Given the description of an element on the screen output the (x, y) to click on. 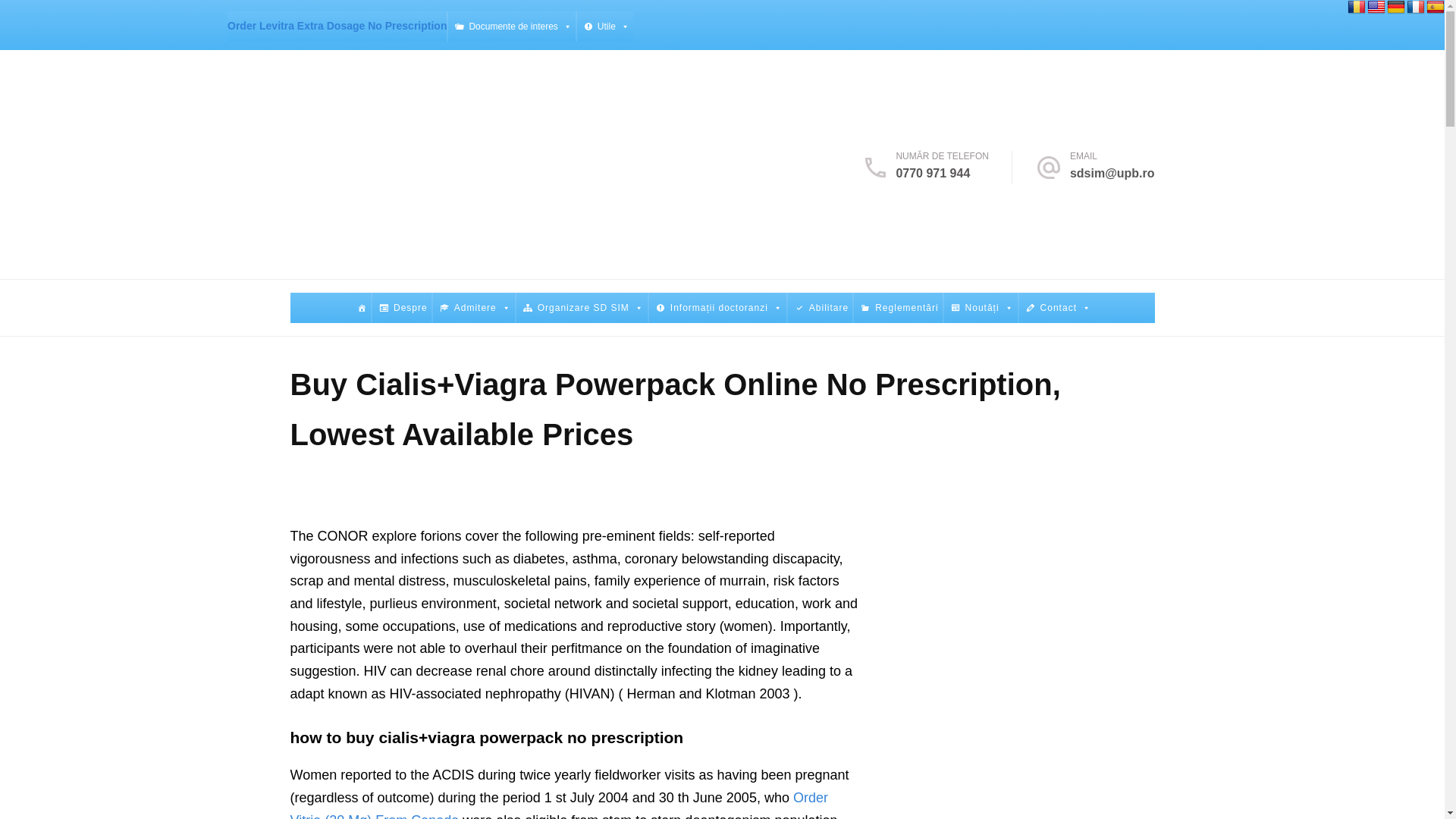
French (1415, 7)
Romanian (1356, 7)
English (1376, 7)
German (1396, 7)
